Given the description of an element on the screen output the (x, y) to click on. 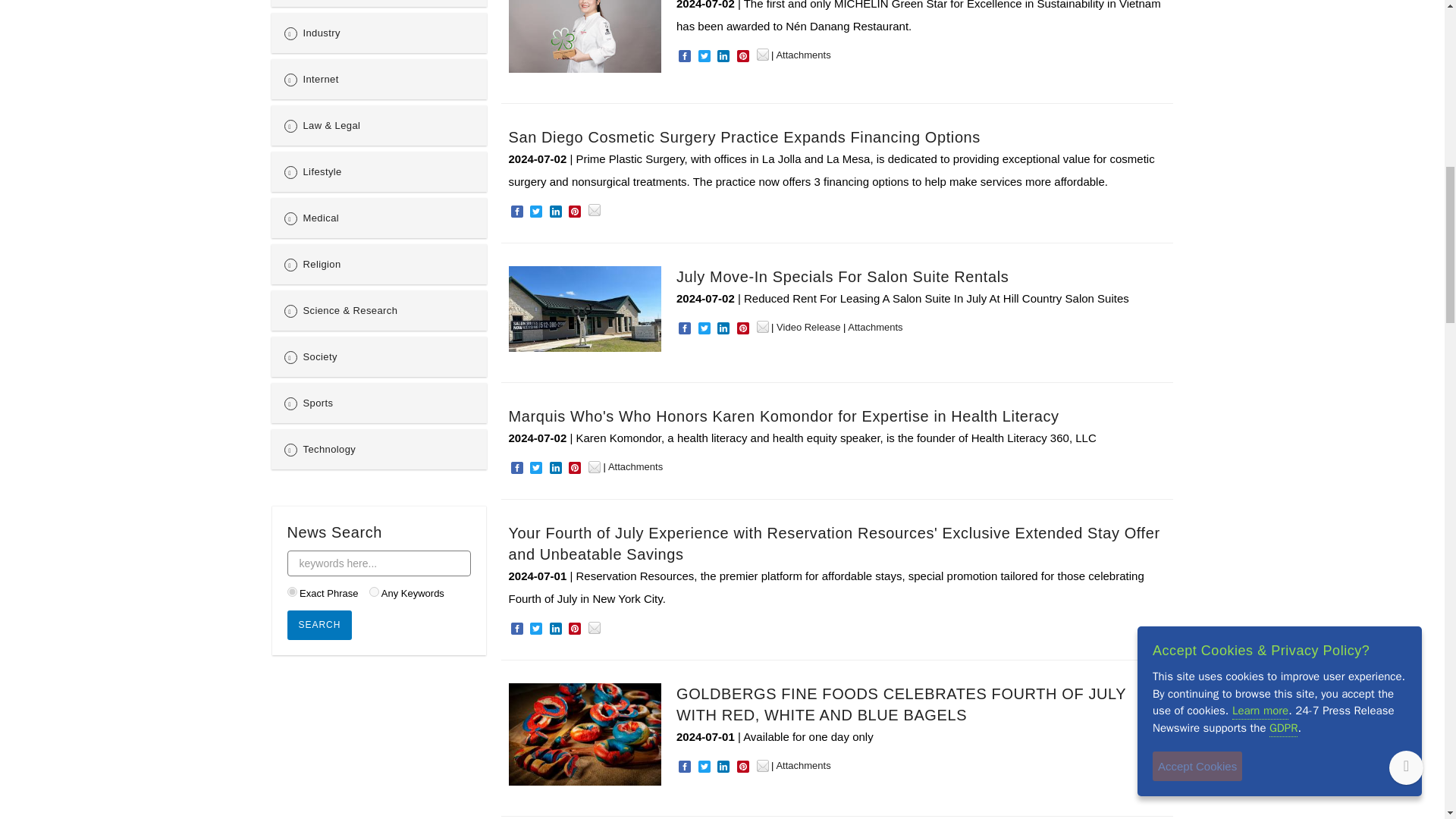
SEARCH (319, 624)
E (291, 592)
N (373, 592)
